Given the description of an element on the screen output the (x, y) to click on. 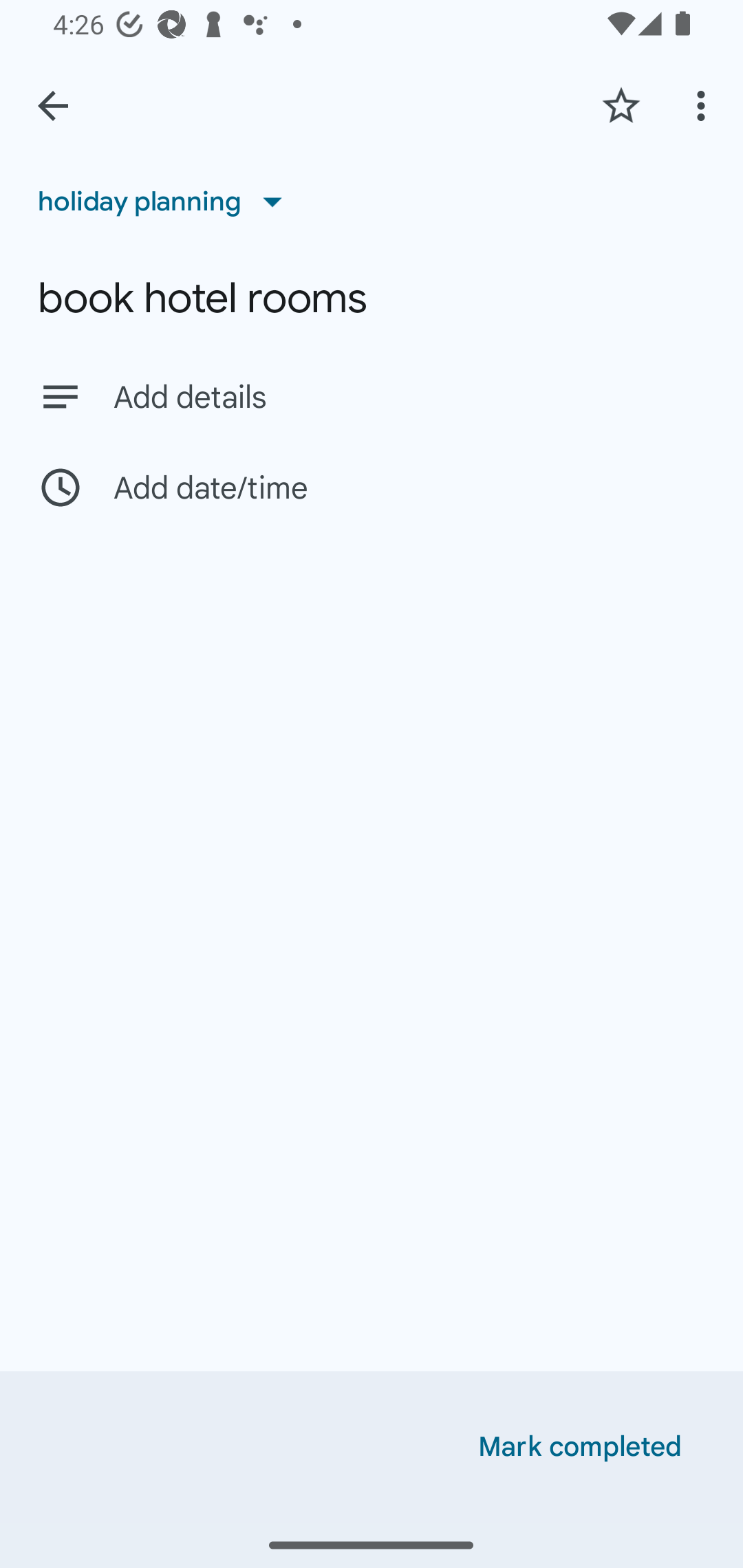
Back (53, 105)
Add star (620, 105)
More options (704, 105)
book hotel rooms (371, 298)
Add details (371, 396)
Add details (409, 397)
Add date/time (371, 487)
Mark completed (580, 1446)
